Given the description of an element on the screen output the (x, y) to click on. 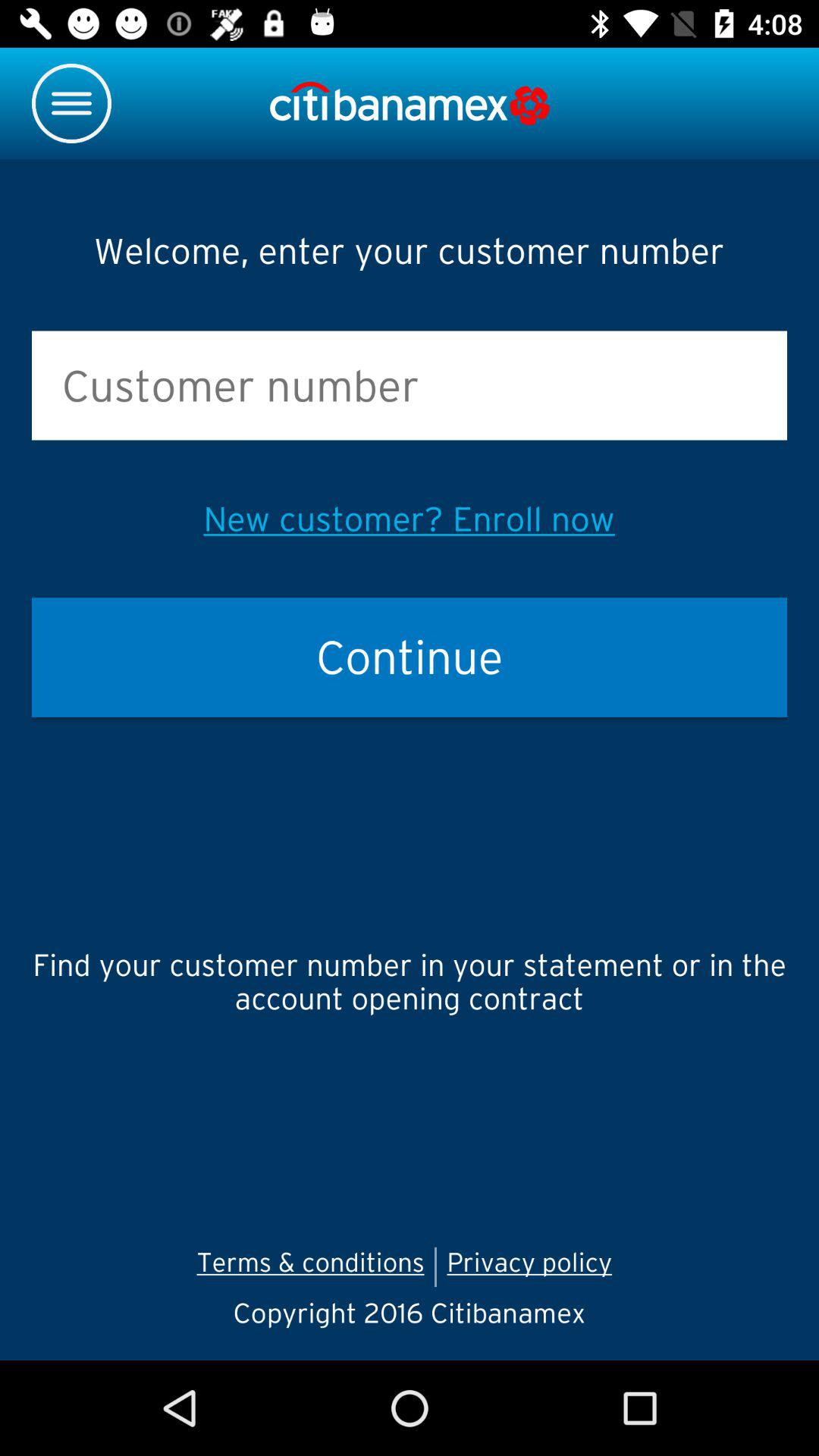
launch icon below welcome enter your (409, 385)
